Given the description of an element on the screen output the (x, y) to click on. 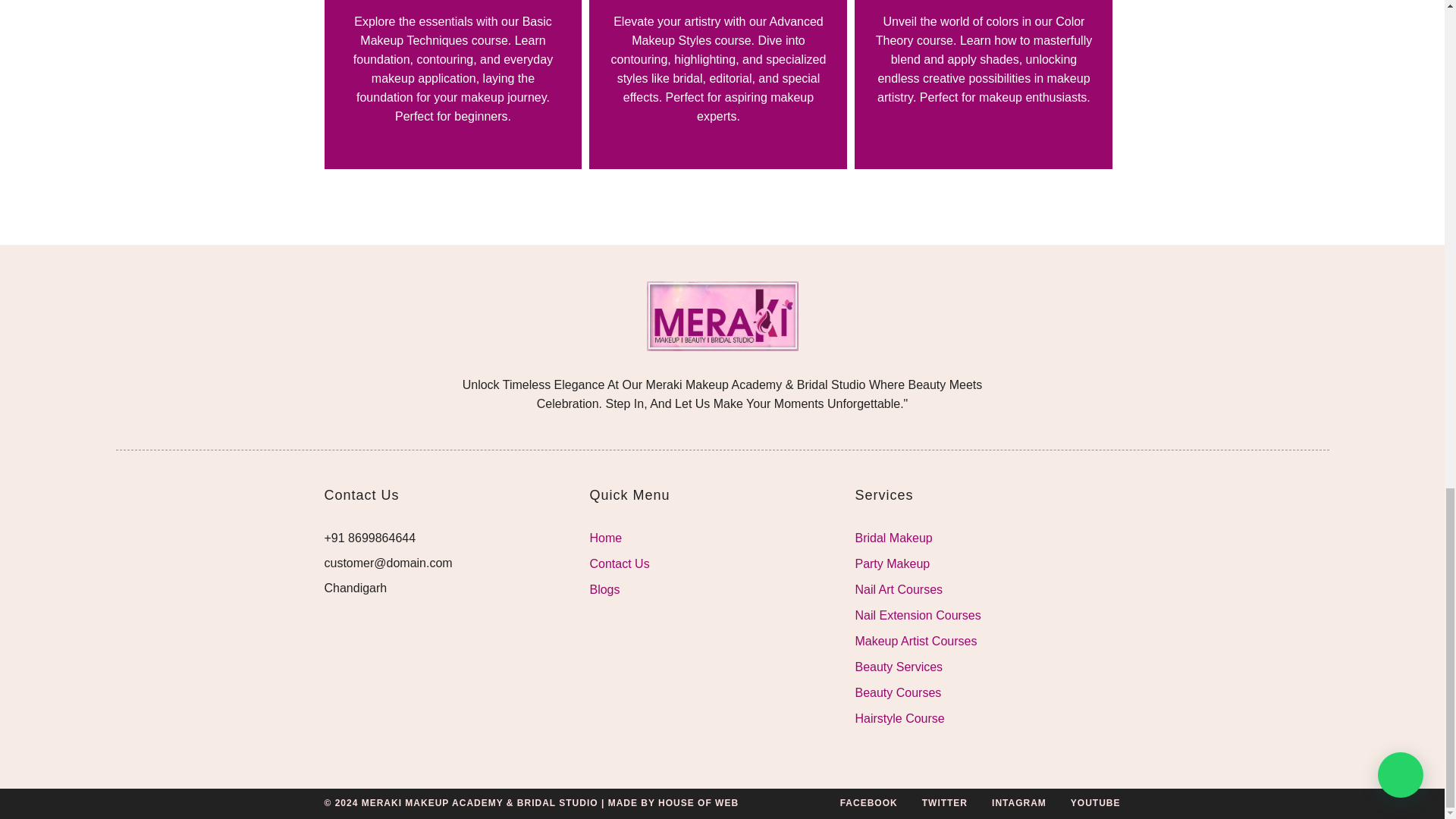
Beauty Services (986, 666)
Makeup Artist Courses (986, 640)
Nail Extension Courses (986, 615)
Home (721, 537)
Bridal Makeup (986, 537)
Party Makeup (986, 563)
Contact Us (721, 563)
Nail Art Courses (986, 588)
